Given the description of an element on the screen output the (x, y) to click on. 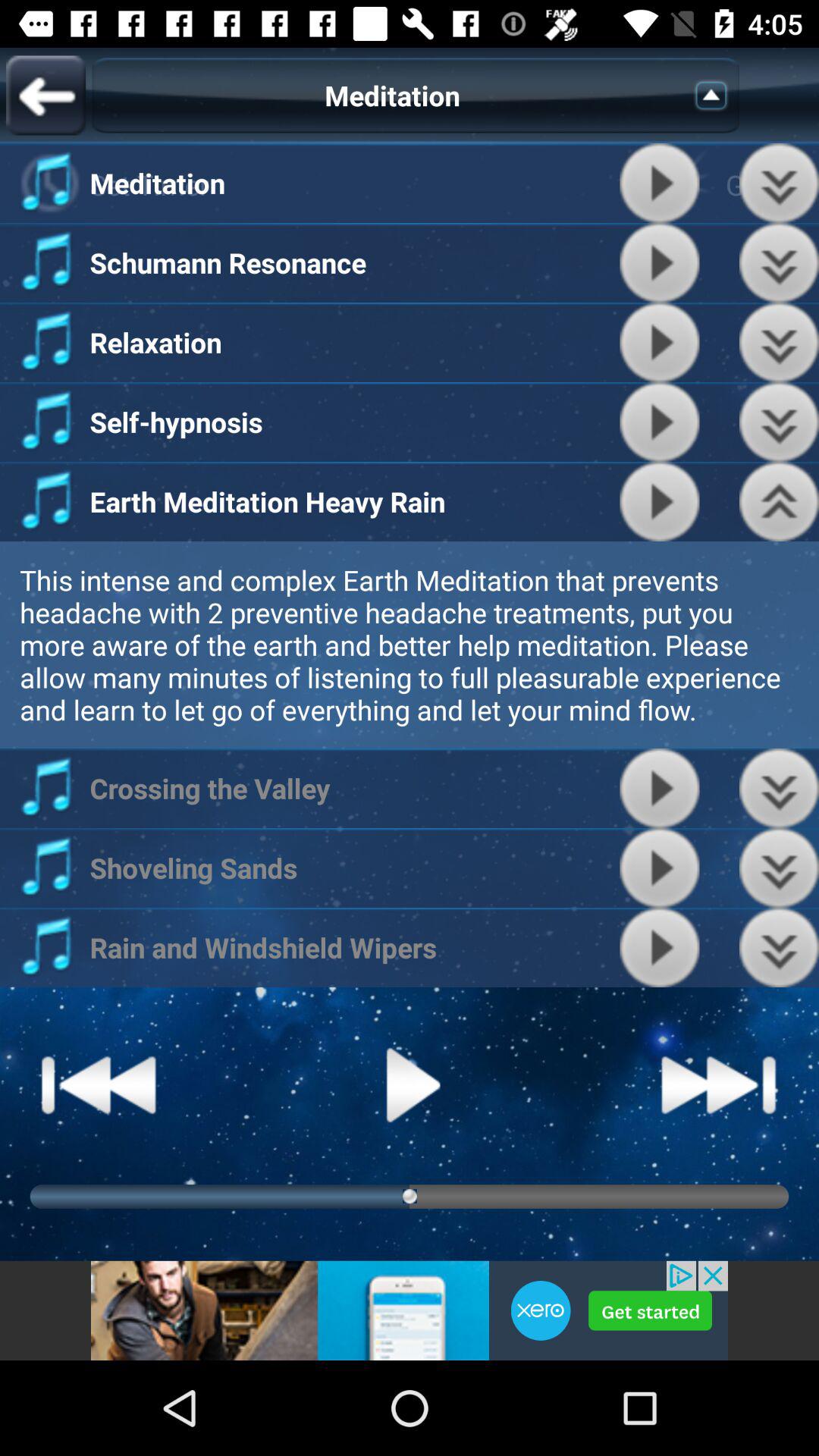
go to stop (659, 947)
